Given the description of an element on the screen output the (x, y) to click on. 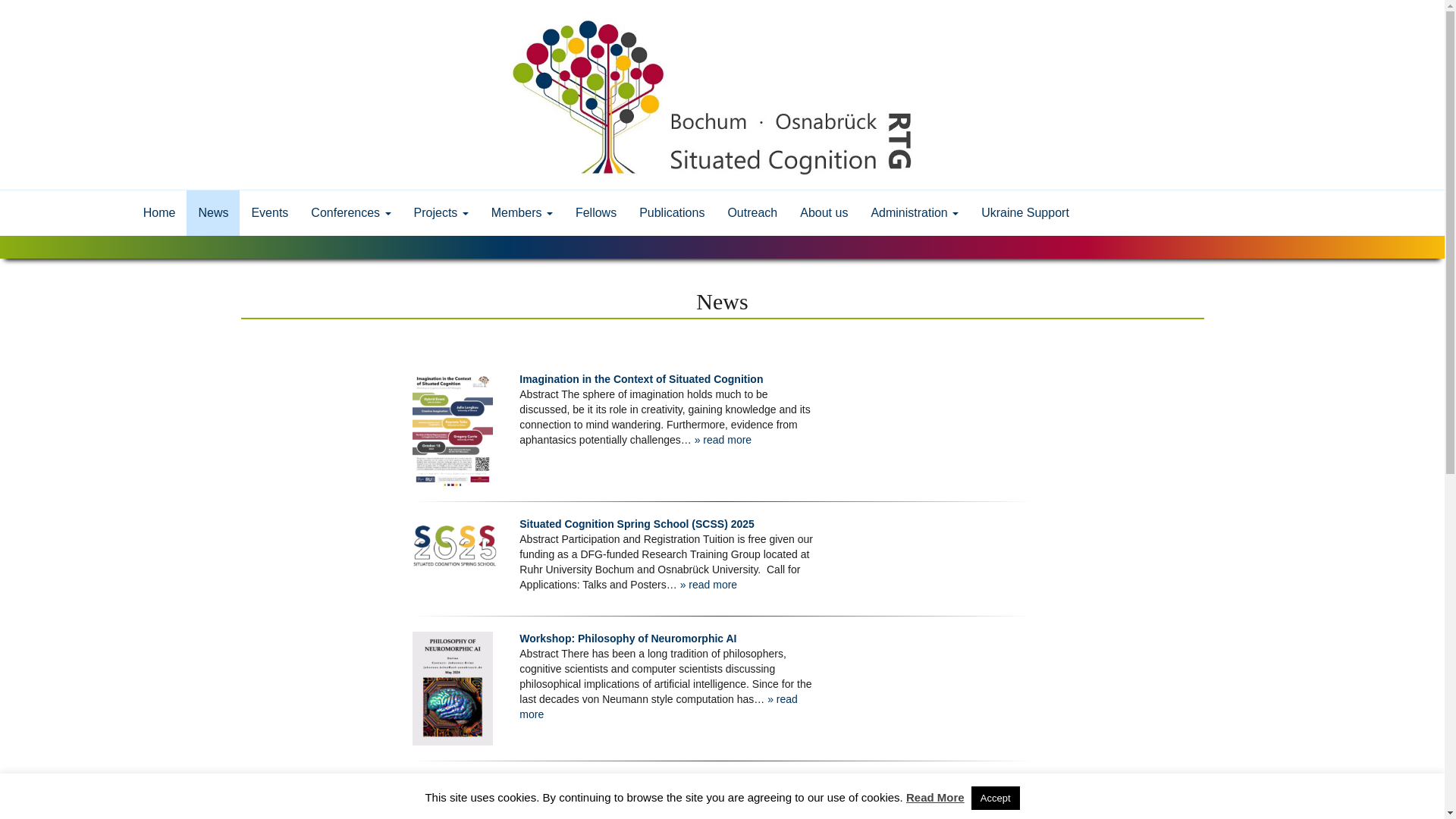
Members (522, 212)
Home (159, 212)
Empirical Investigations of Situated Cognition (635, 783)
Events (269, 212)
Events (269, 212)
Outreach (752, 212)
Conferences (350, 212)
Members (522, 212)
Fellows (595, 212)
Administration (914, 212)
